Given the description of an element on the screen output the (x, y) to click on. 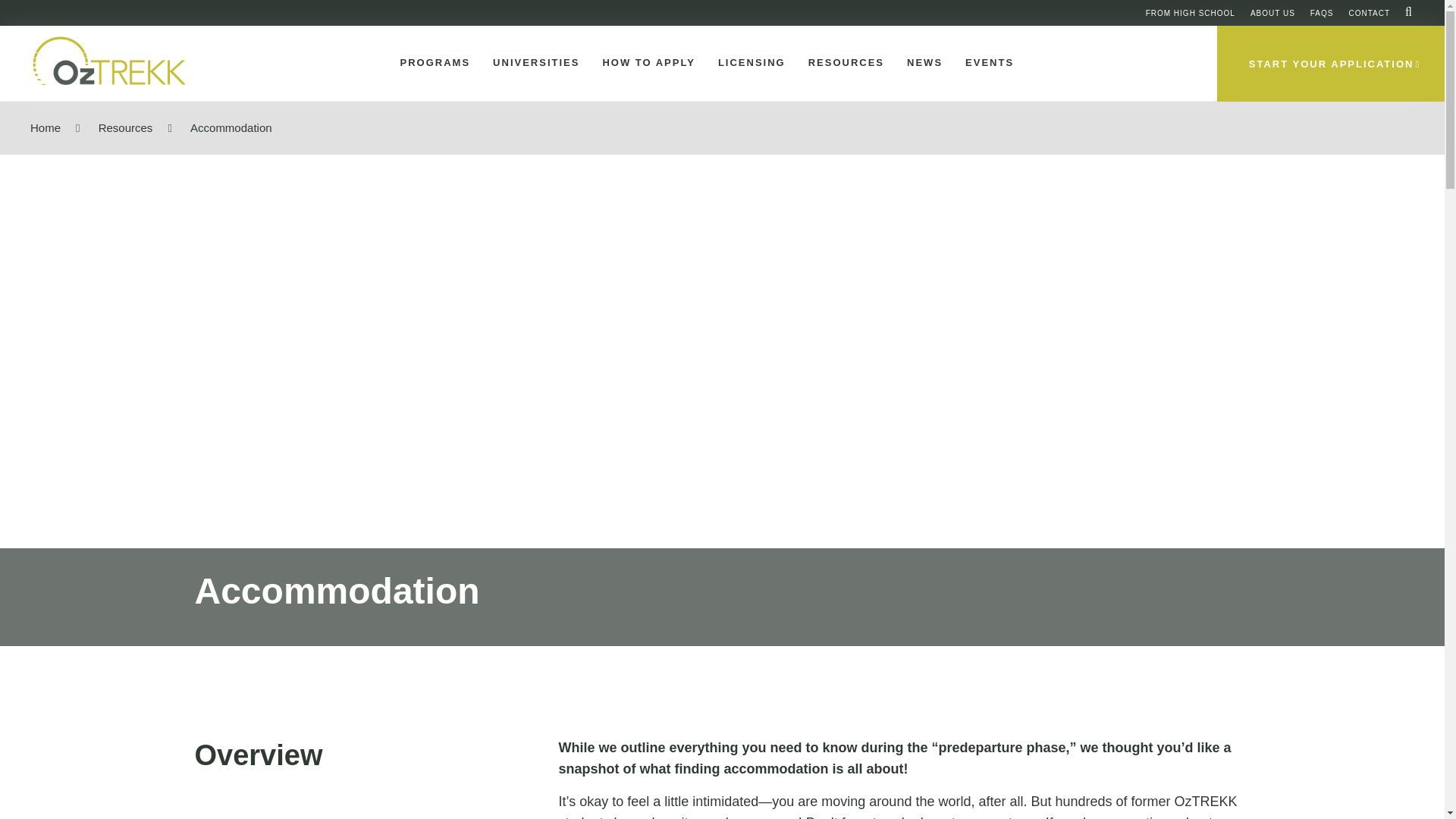
CONTACT (1369, 13)
PROGRAMS (432, 63)
FAQS (1321, 13)
FROM HIGH SCHOOL (1189, 13)
ABOUT US (1272, 13)
